Given the description of an element on the screen output the (x, y) to click on. 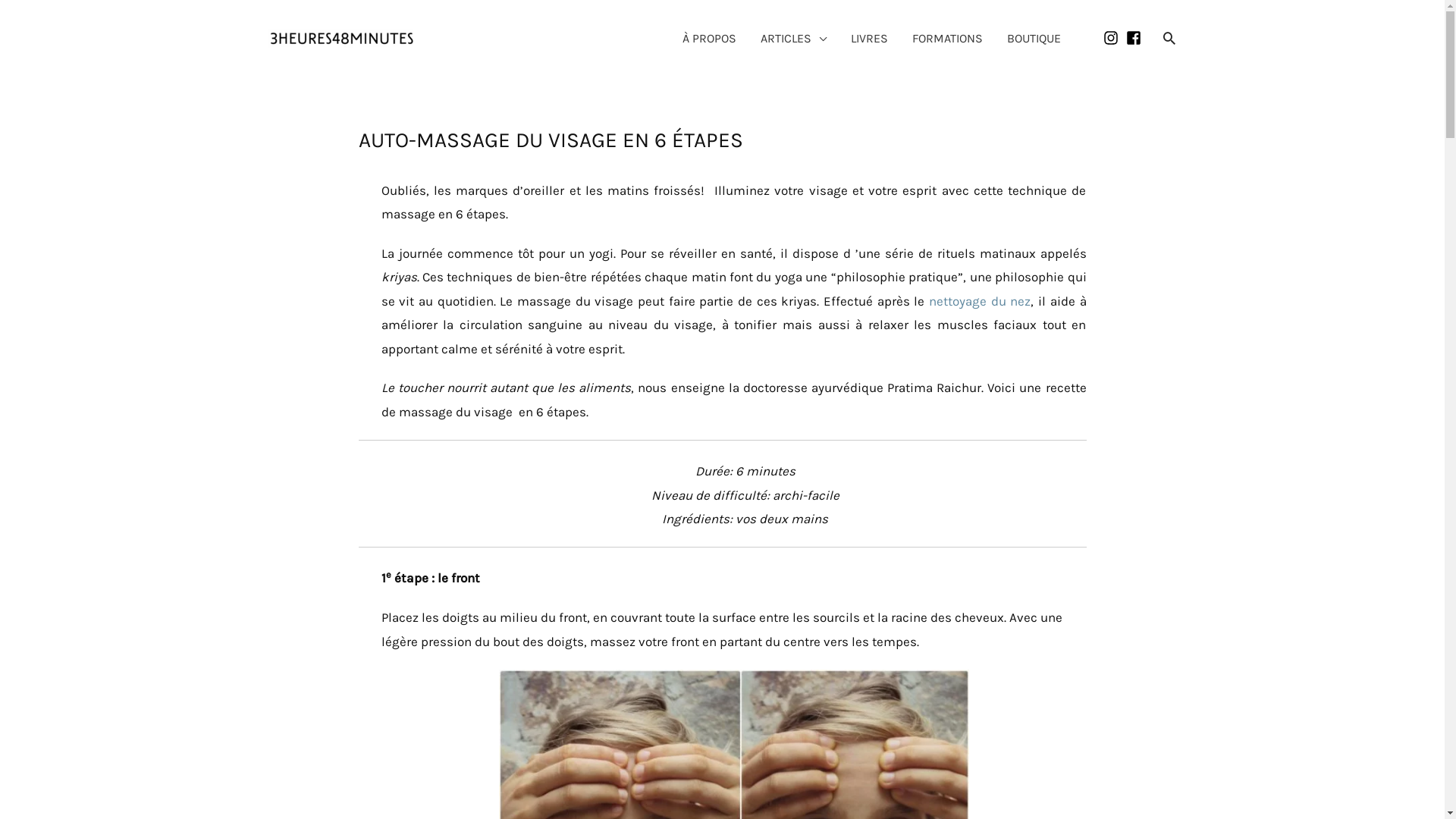
nettoyage du nez Element type: text (979, 300)
BOUTIQUE Element type: text (1033, 38)
ARTICLES Element type: text (792, 38)
Rechercher Element type: text (38, 14)
LIVRES Element type: text (869, 38)
FORMATIONS Element type: text (946, 38)
Rechercher Element type: text (1168, 37)
